Given the description of an element on the screen output the (x, y) to click on. 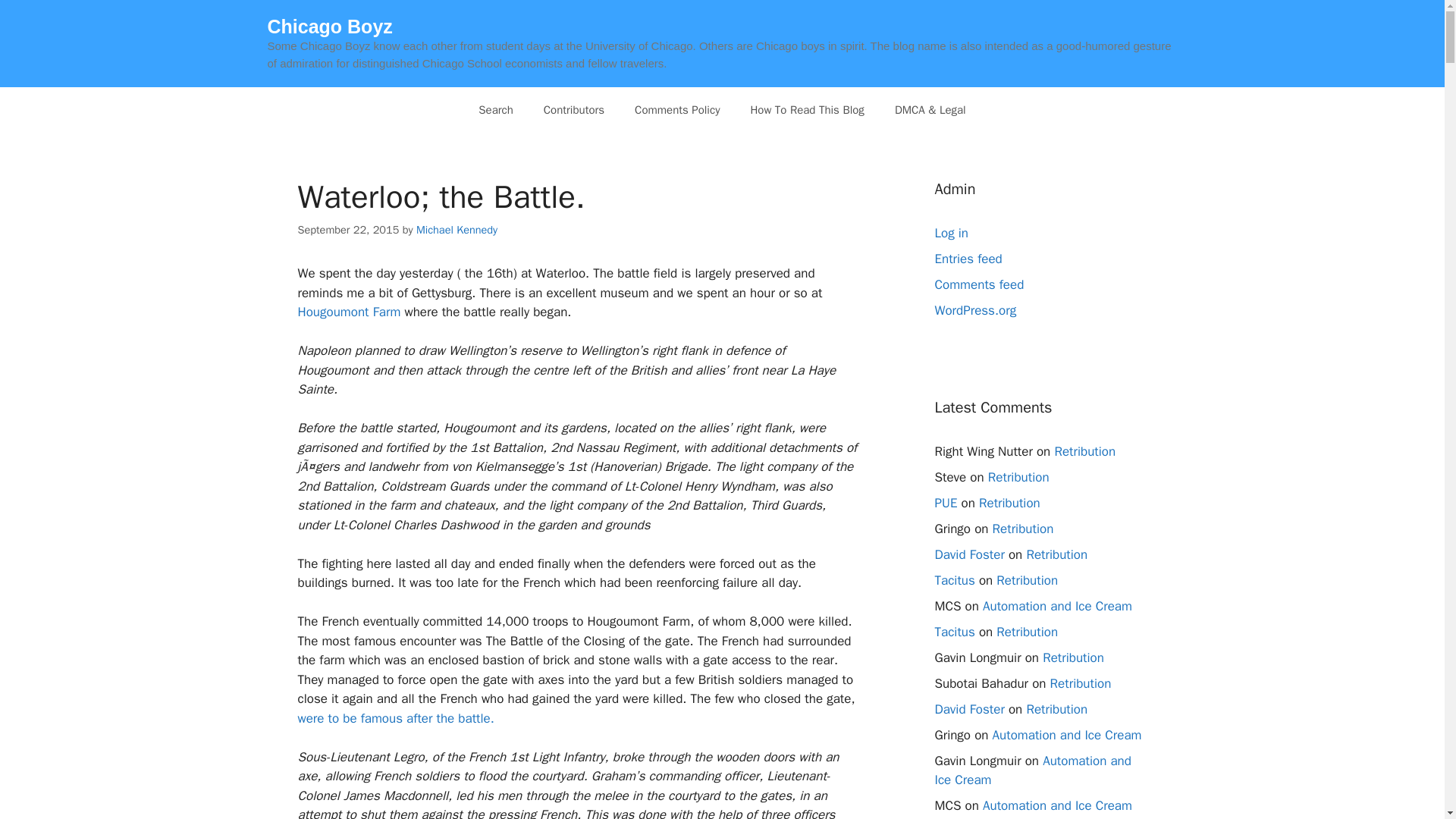
Entries feed (967, 258)
Comments Policy (677, 109)
Michael Kennedy (456, 229)
Contributors (574, 109)
Log in (951, 232)
Chicago Boyz (328, 25)
Hougoumont Farm (348, 311)
How To Read This Blog (807, 109)
were to be famous after the battle. (395, 718)
View all posts by Michael Kennedy (456, 229)
Search (495, 109)
